Given the description of an element on the screen output the (x, y) to click on. 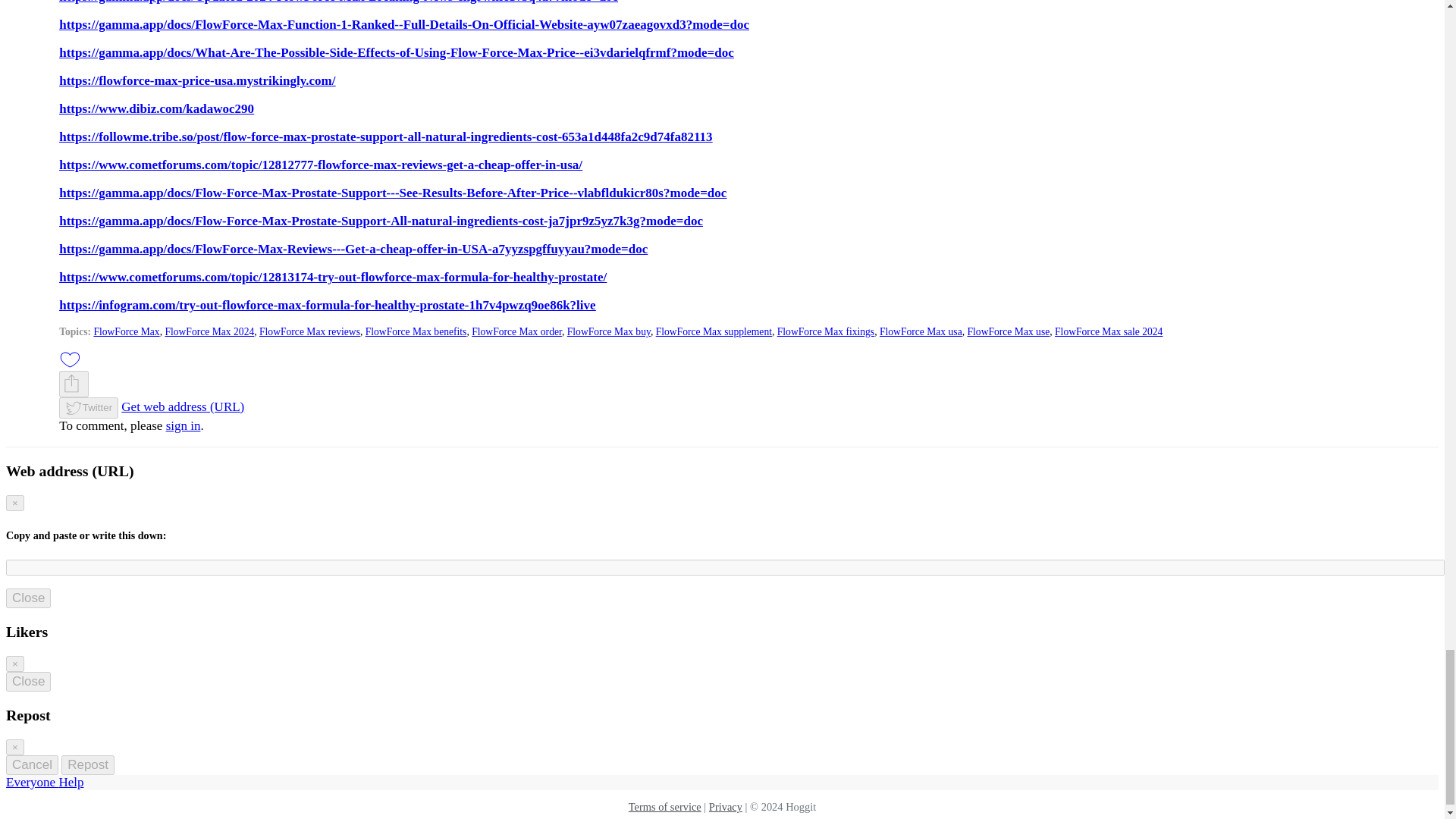
Share (71, 383)
Like (70, 359)
